Given the description of an element on the screen output the (x, y) to click on. 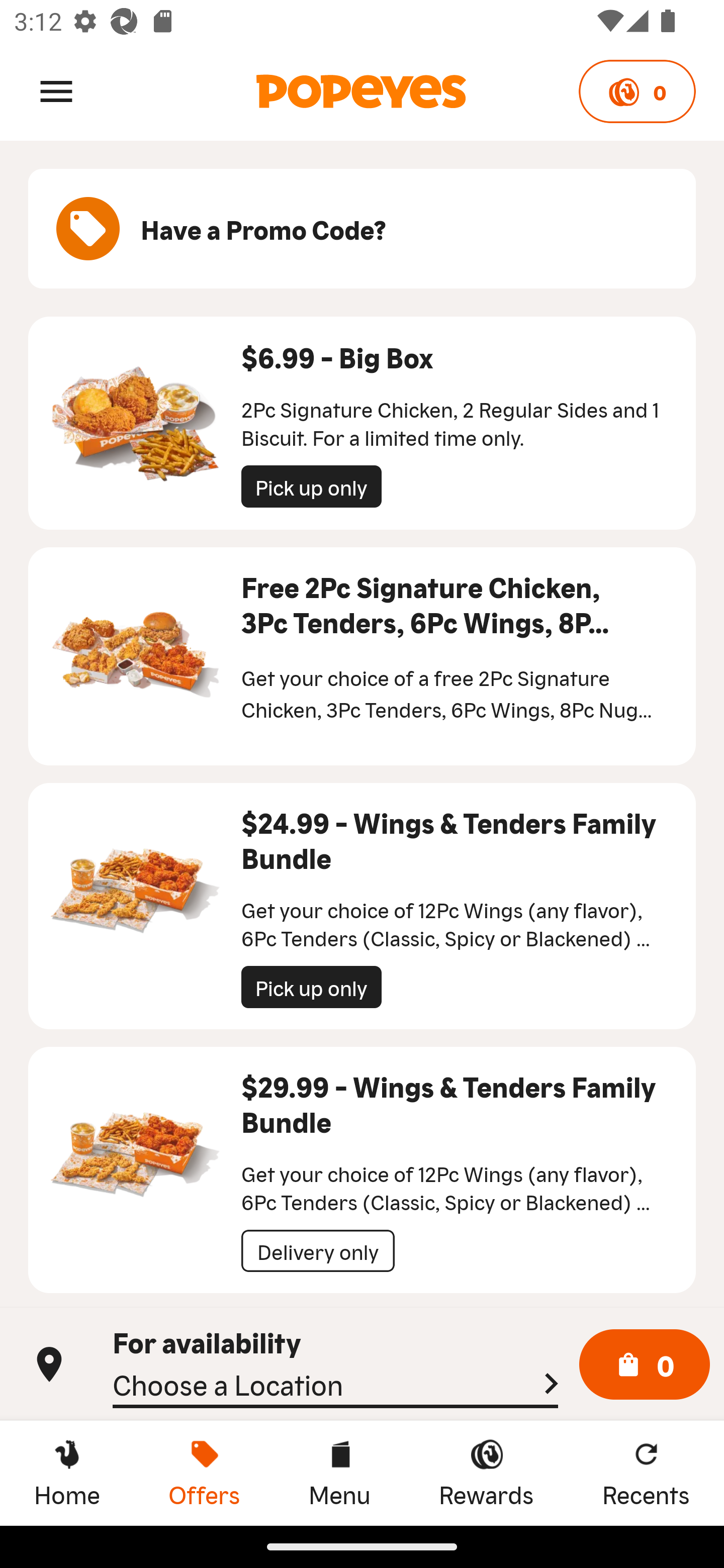
Menu  (56, 90)
0 Points 0 (636, 91)
Have a Promo Code?  Have a Promo Code? (361, 228)
0 Cart total  0 (644, 1364)
Home Home Home (66, 1472)
Offers, current page Offers Offers, current page (203, 1472)
Menu Menu Menu (339, 1472)
Rewards Rewards Rewards (486, 1472)
Recents Recents Recents (646, 1472)
